Given the description of an element on the screen output the (x, y) to click on. 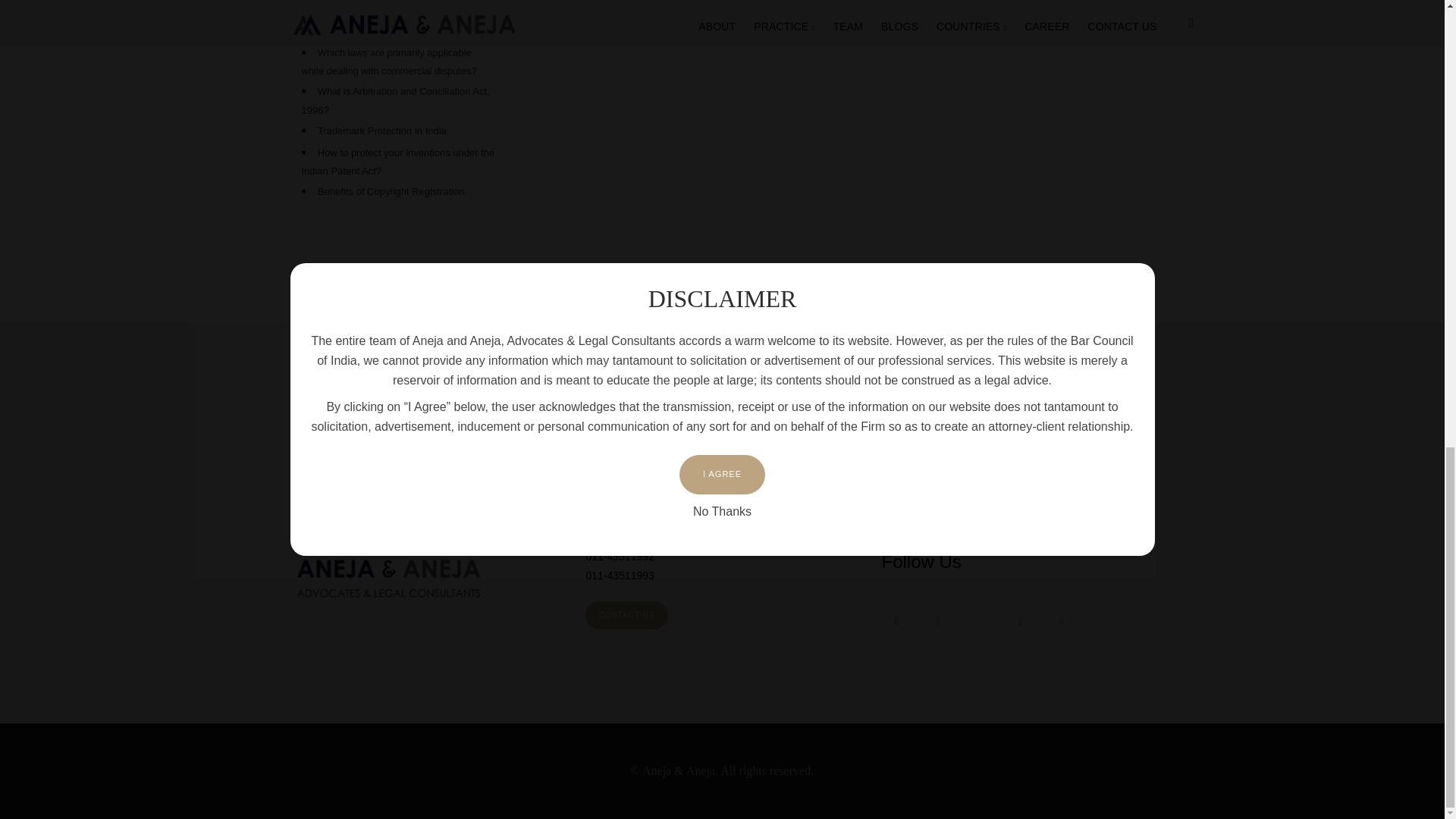
How to protect your inventions under the Indian Patent Act? (398, 162)
SUBSCRIBE (1103, 497)
What is Arbitration and Conciliation Act, 1996? (395, 100)
Why are contracts and agreements required? (386, 22)
CONTACT US (625, 615)
Trademark Protection in India (381, 130)
Benefits of Copyright Registration (390, 191)
